Given the description of an element on the screen output the (x, y) to click on. 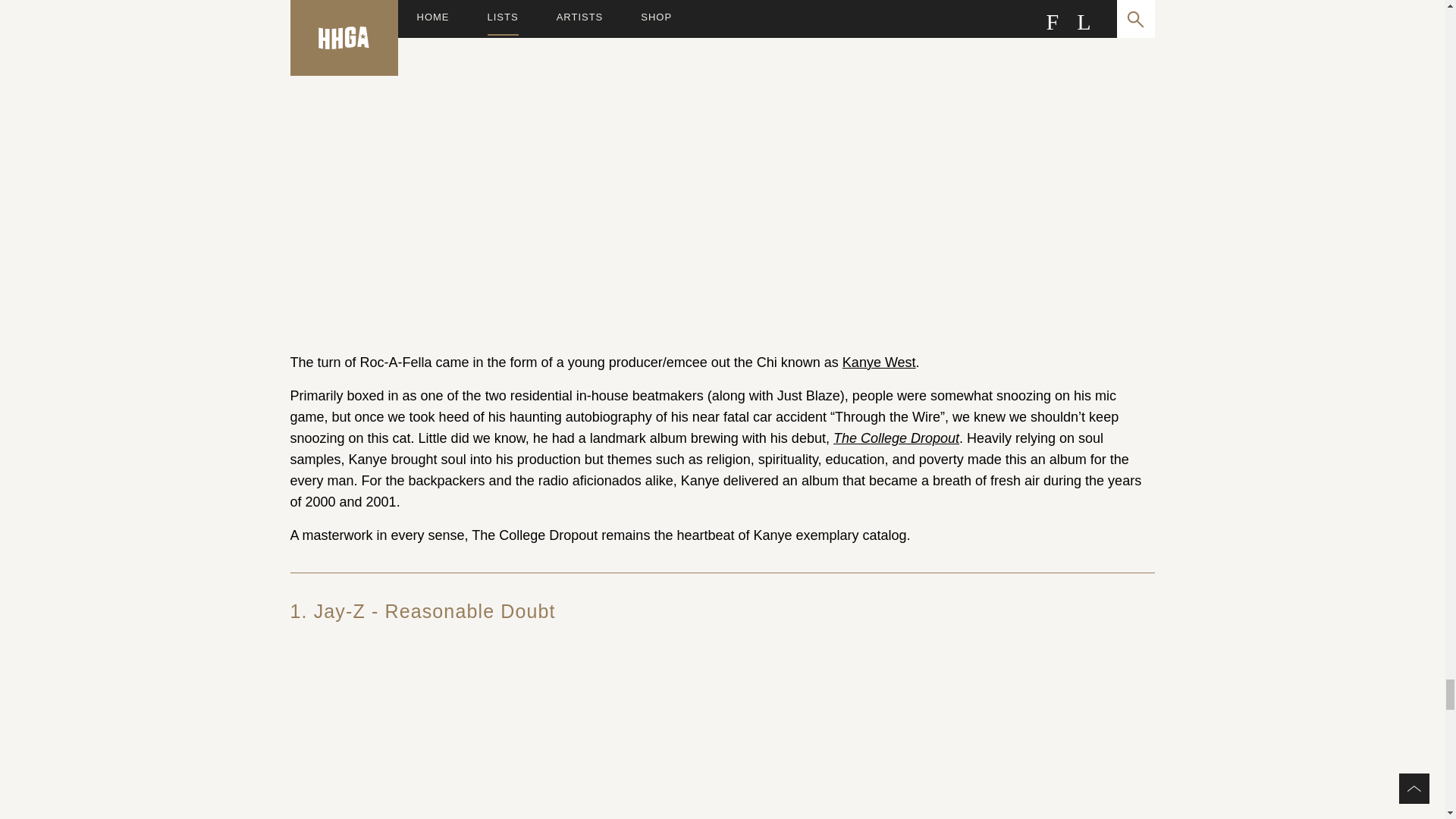
The College Dropout (895, 437)
Kanye West (879, 362)
